Given the description of an element on the screen output the (x, y) to click on. 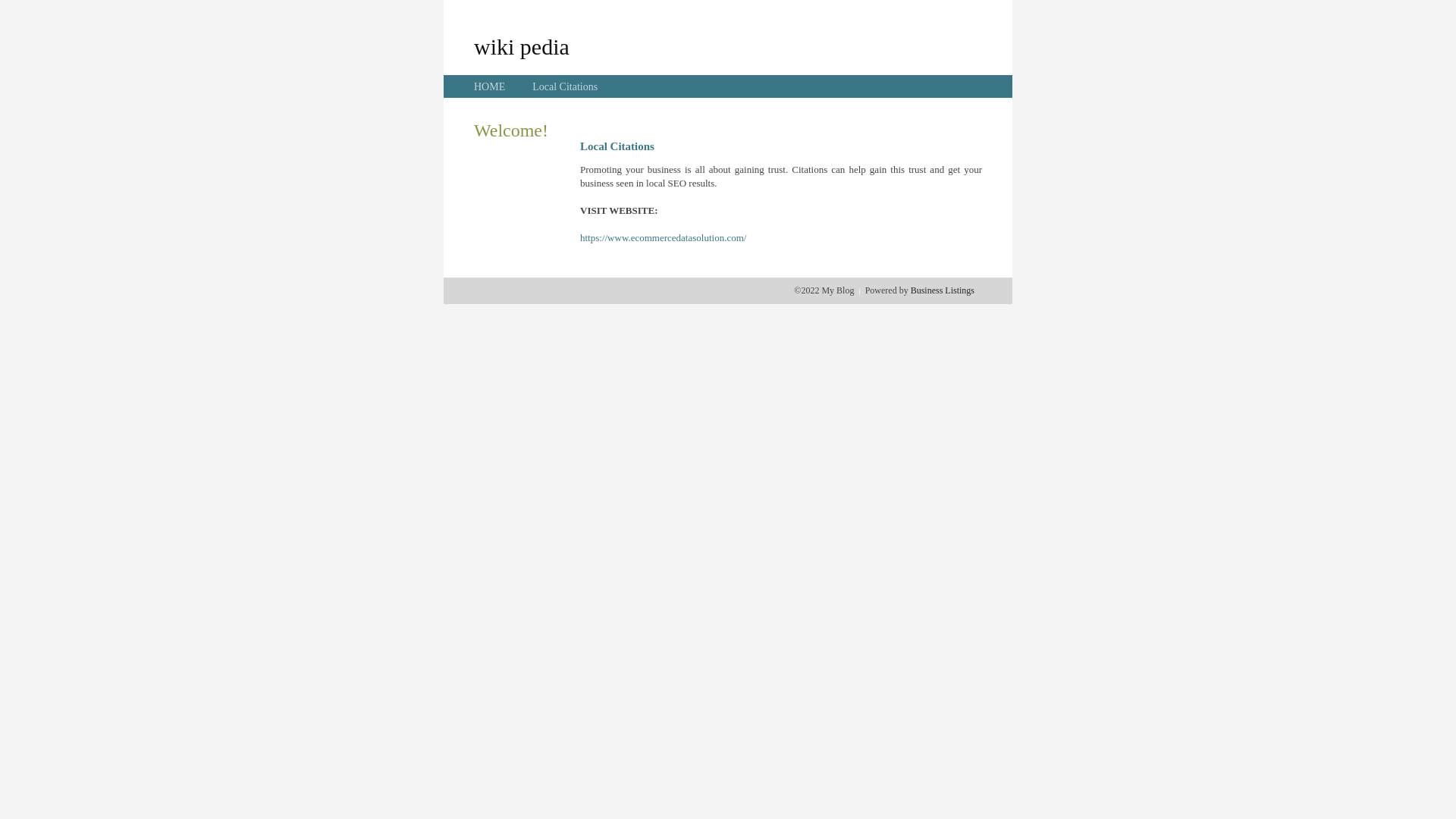
wiki pedia Element type: text (521, 46)
Local Citations Element type: text (564, 86)
HOME Element type: text (489, 86)
Business Listings Element type: text (942, 290)
https://www.ecommercedatasolution.com/ Element type: text (663, 237)
